Given the description of an element on the screen output the (x, y) to click on. 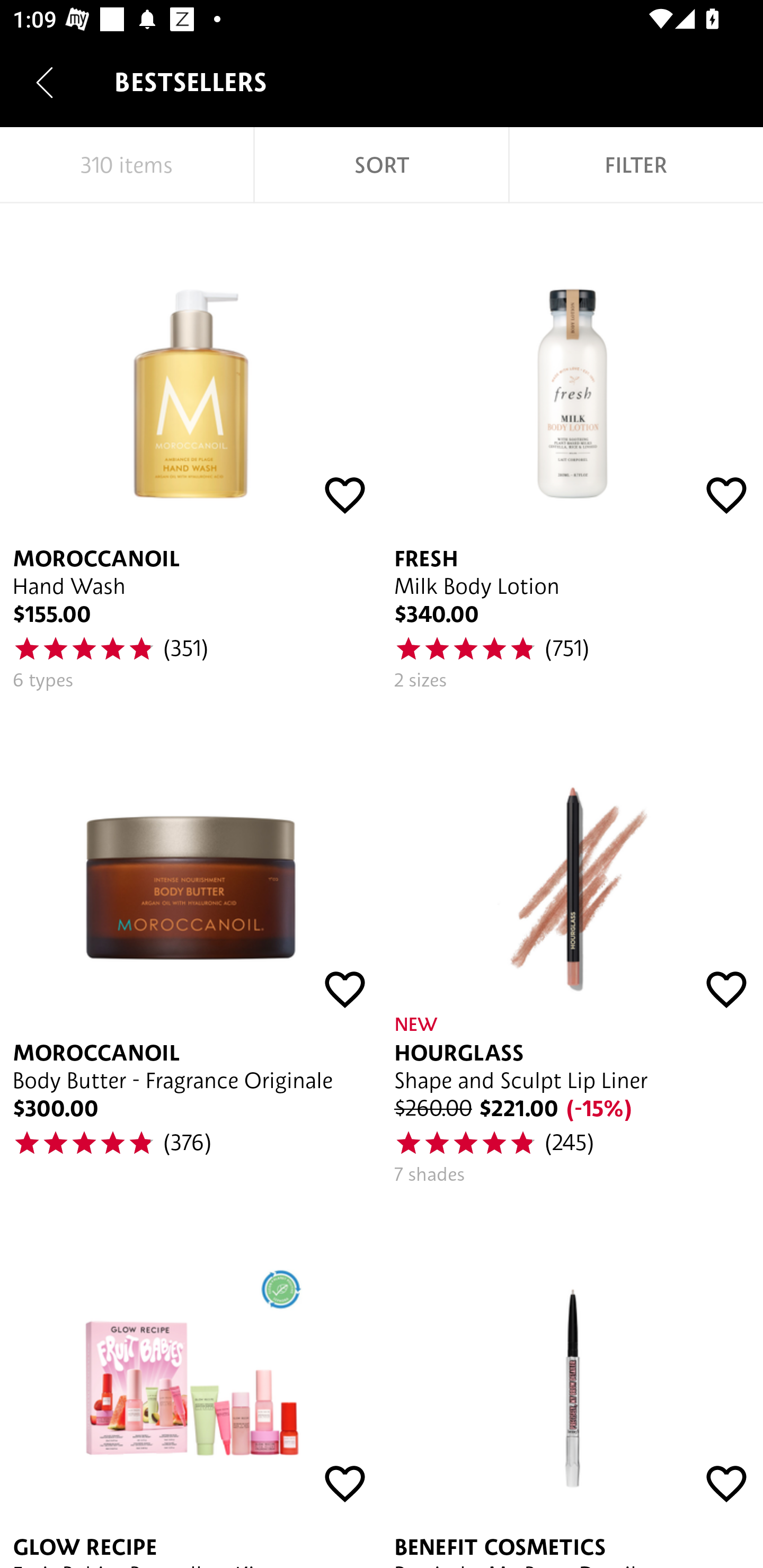
Navigate up (44, 82)
SORT (381, 165)
FILTER (636, 165)
MOROCCANOIL Hand Wash $155.00 48.0 (351) 6 types (190, 457)
FRESH Milk Body Lotion $340.00 48.0 (751) 2 sizes (572, 457)
GLOW RECIPE Fruit Babies Bestsellers Kit  (190, 1383)
BENEFIT COSMETICS Precisely, My Brow Detailer (572, 1383)
